Given the description of an element on the screen output the (x, y) to click on. 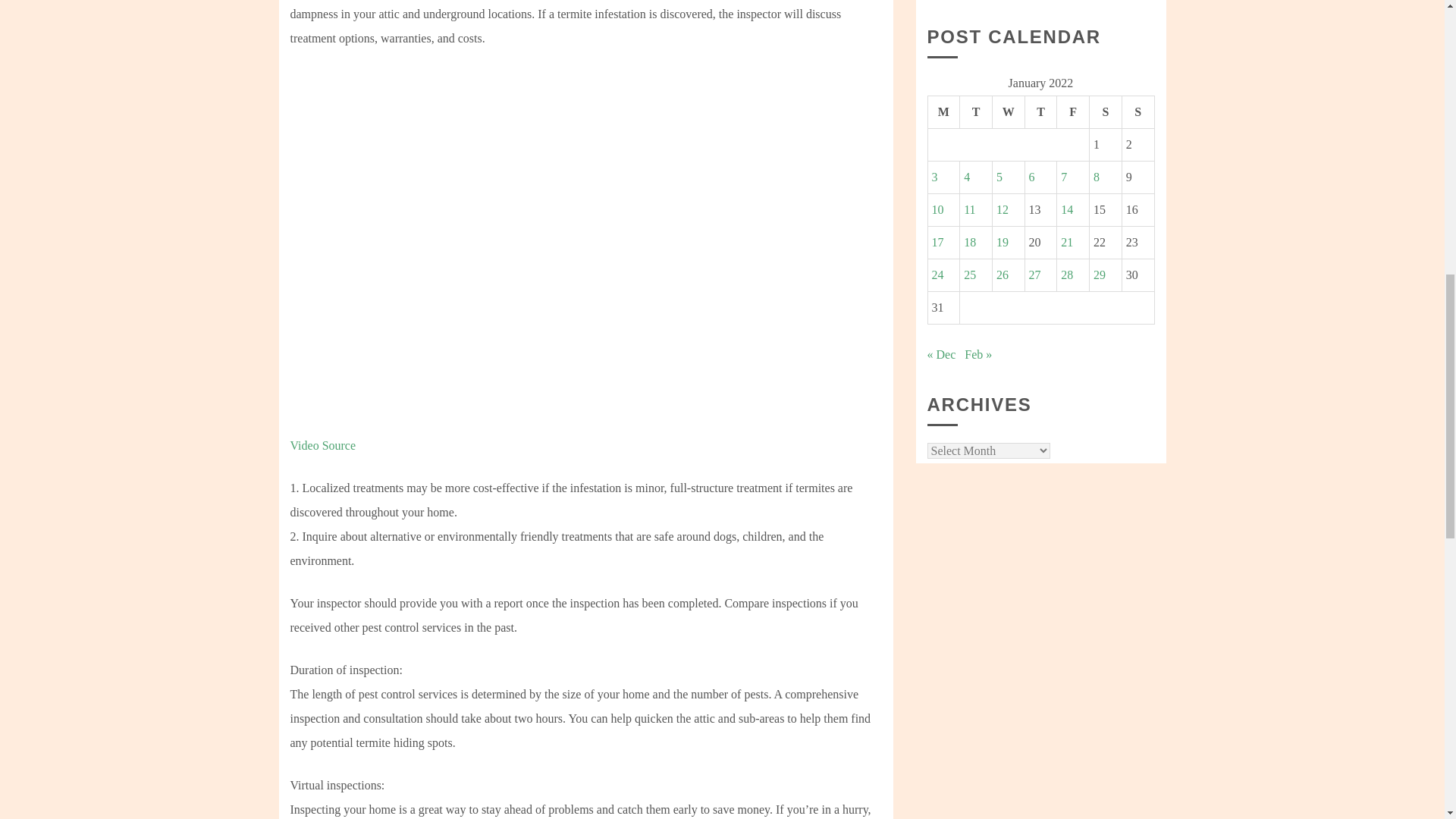
Wednesday (1008, 111)
10 (937, 209)
14 (1067, 209)
Sunday (1137, 111)
17 (937, 241)
Thursday (1041, 111)
Saturday (1105, 111)
Tuesday (975, 111)
Friday (1073, 111)
Monday (943, 111)
Video Source (322, 445)
12 (1002, 209)
